Given the description of an element on the screen output the (x, y) to click on. 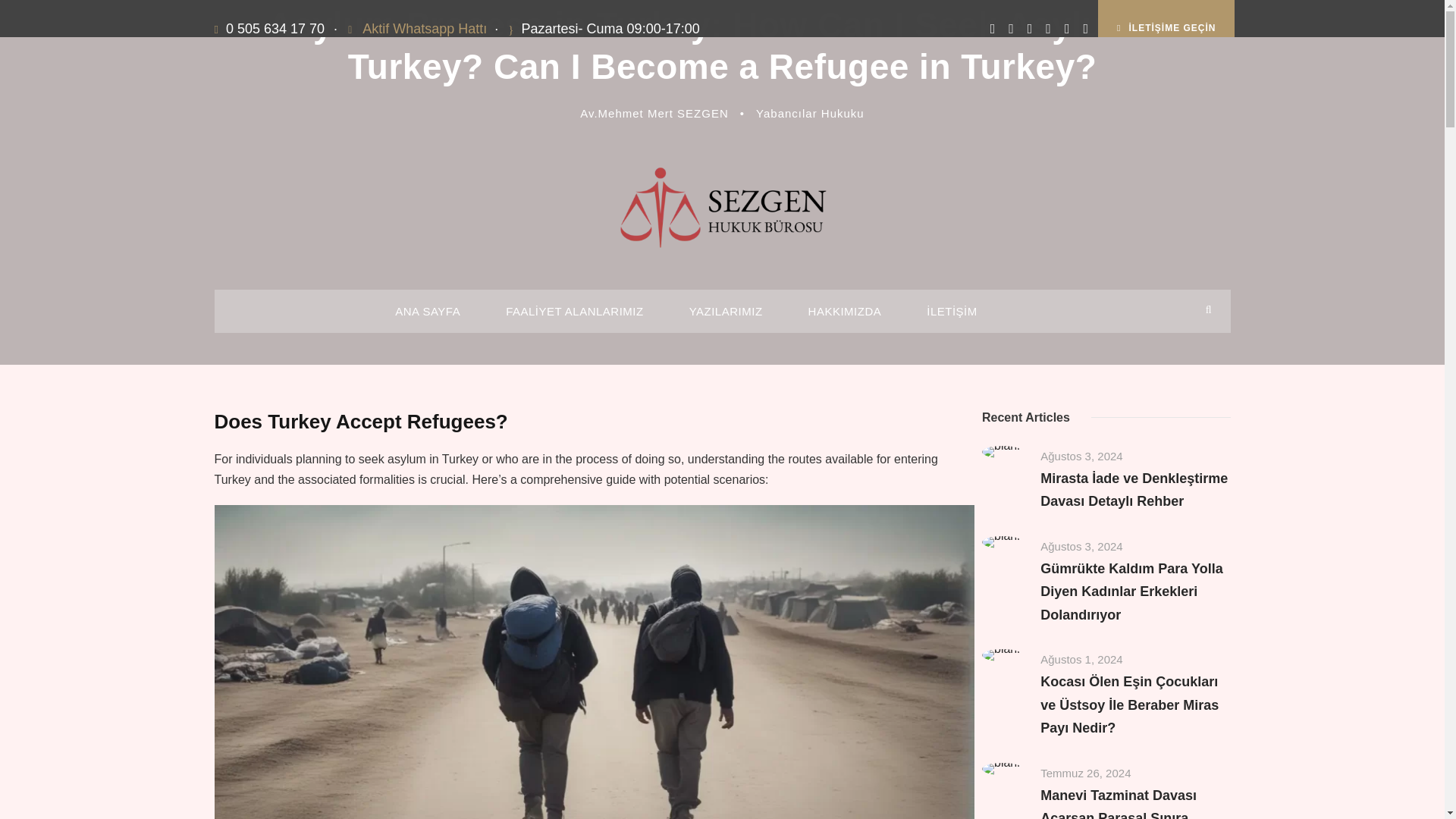
ANA SAYFA (427, 317)
Av.Mehmet Mert SEZGEN (654, 113)
YAZILARIMIZ (725, 317)
so (721, 207)
HAKKIMIZDA (845, 317)
